Given the description of an element on the screen output the (x, y) to click on. 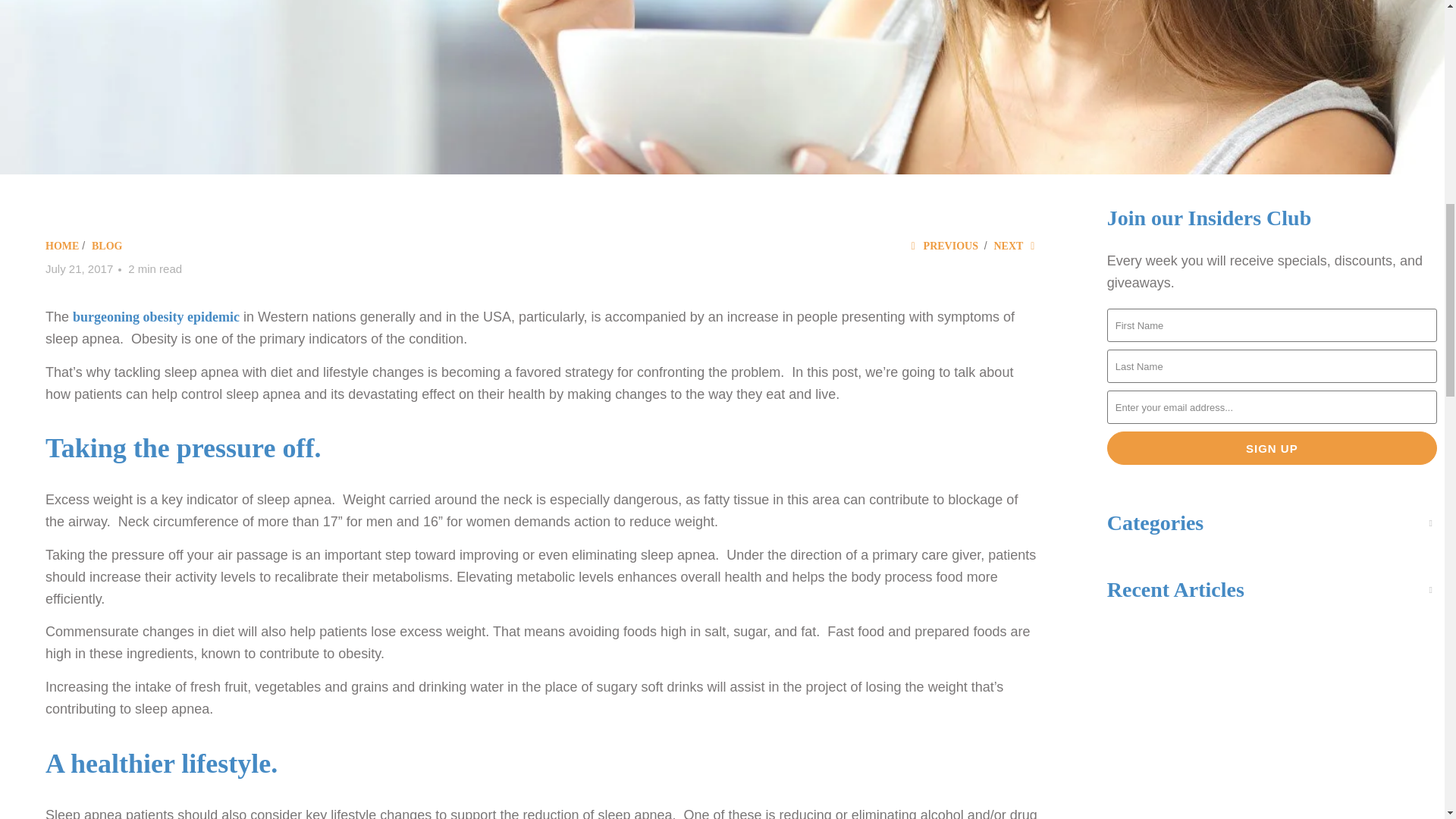
Good Morning Snore Solution (61, 245)
Sign Up (1271, 448)
An Overlooked Cause of Childhood Obesity (156, 316)
Blog (106, 245)
